Given the description of an element on the screen output the (x, y) to click on. 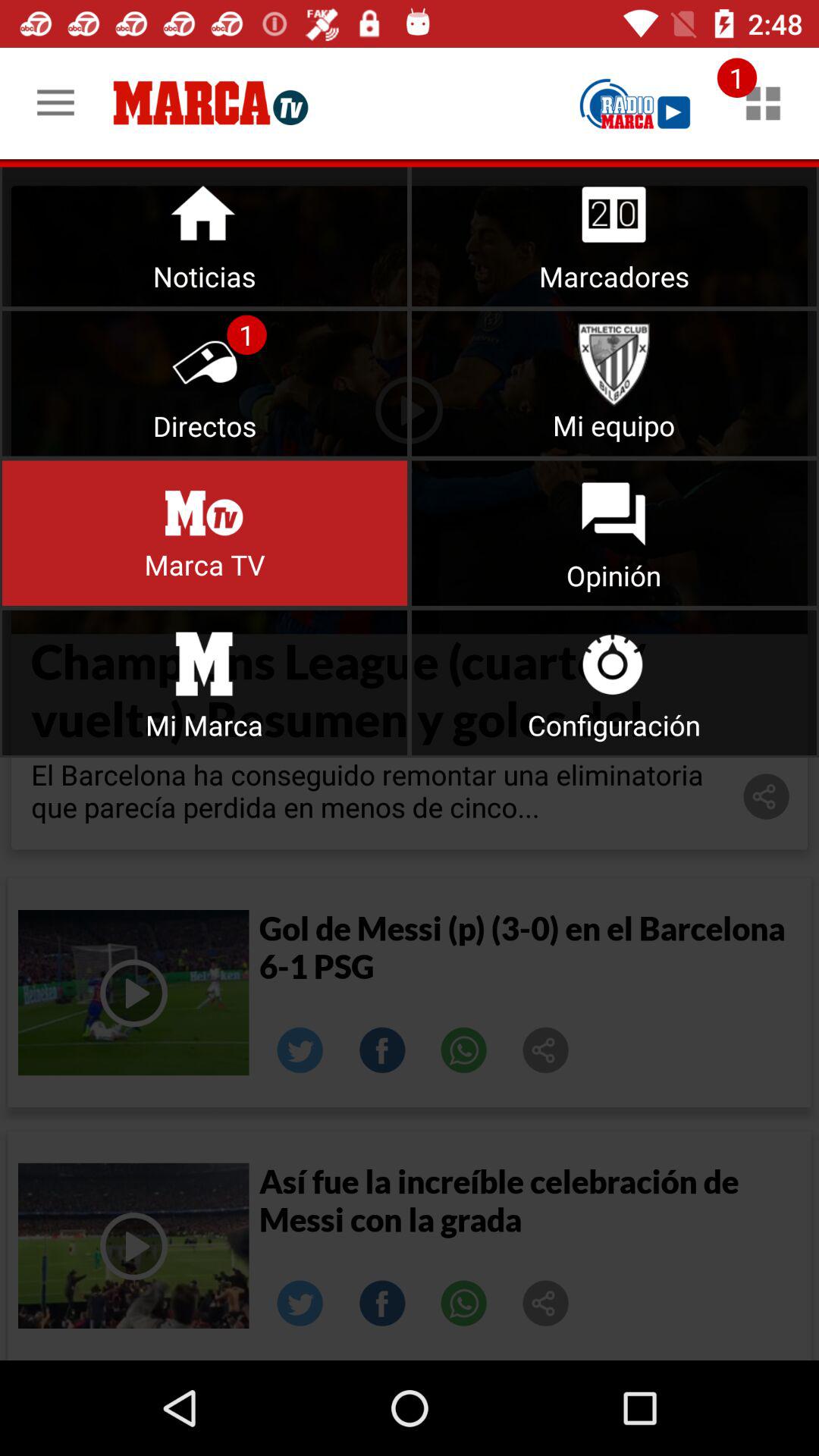
play video (133, 992)
